Given the description of an element on the screen output the (x, y) to click on. 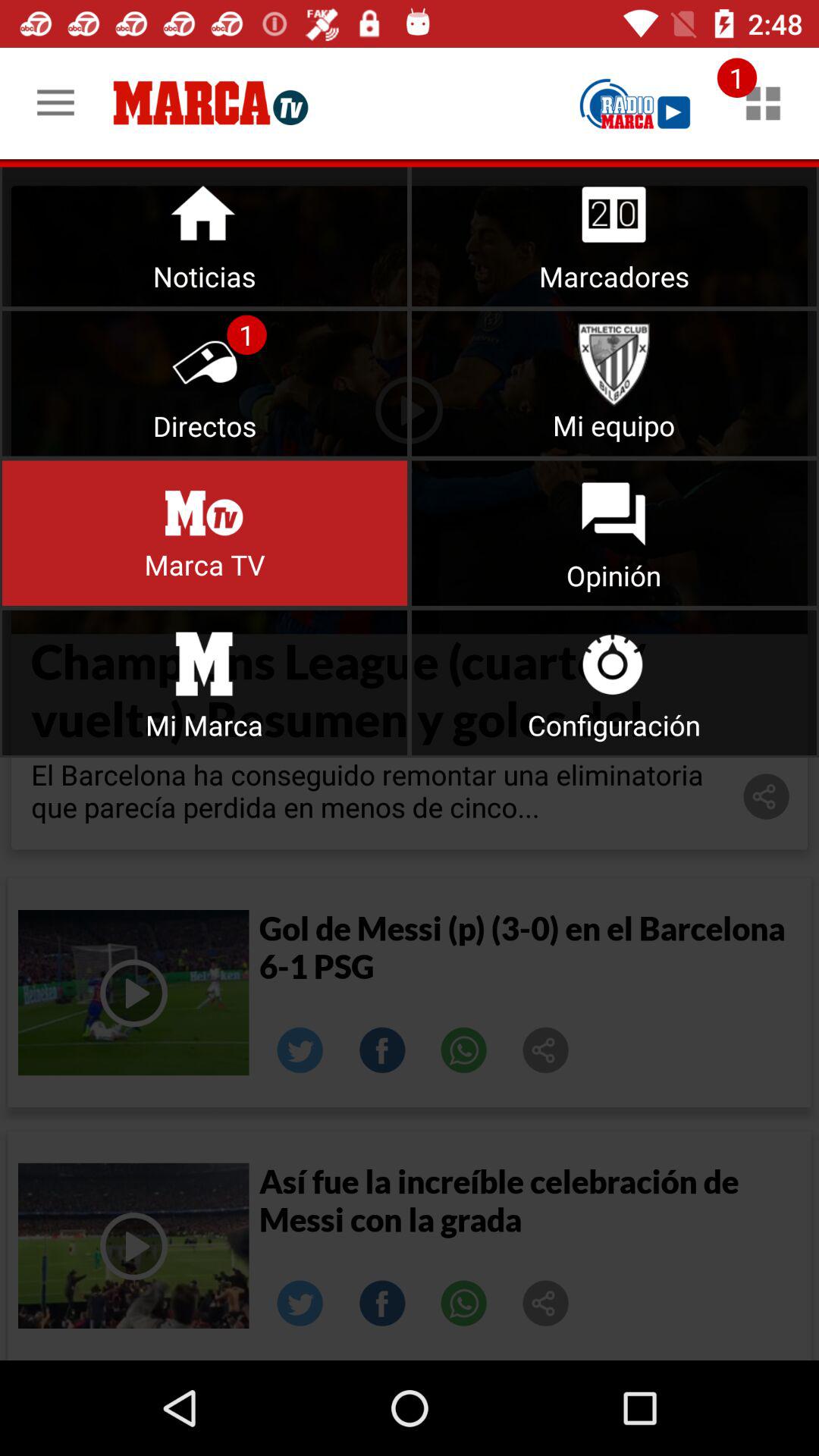
play video (133, 992)
